Given the description of an element on the screen output the (x, y) to click on. 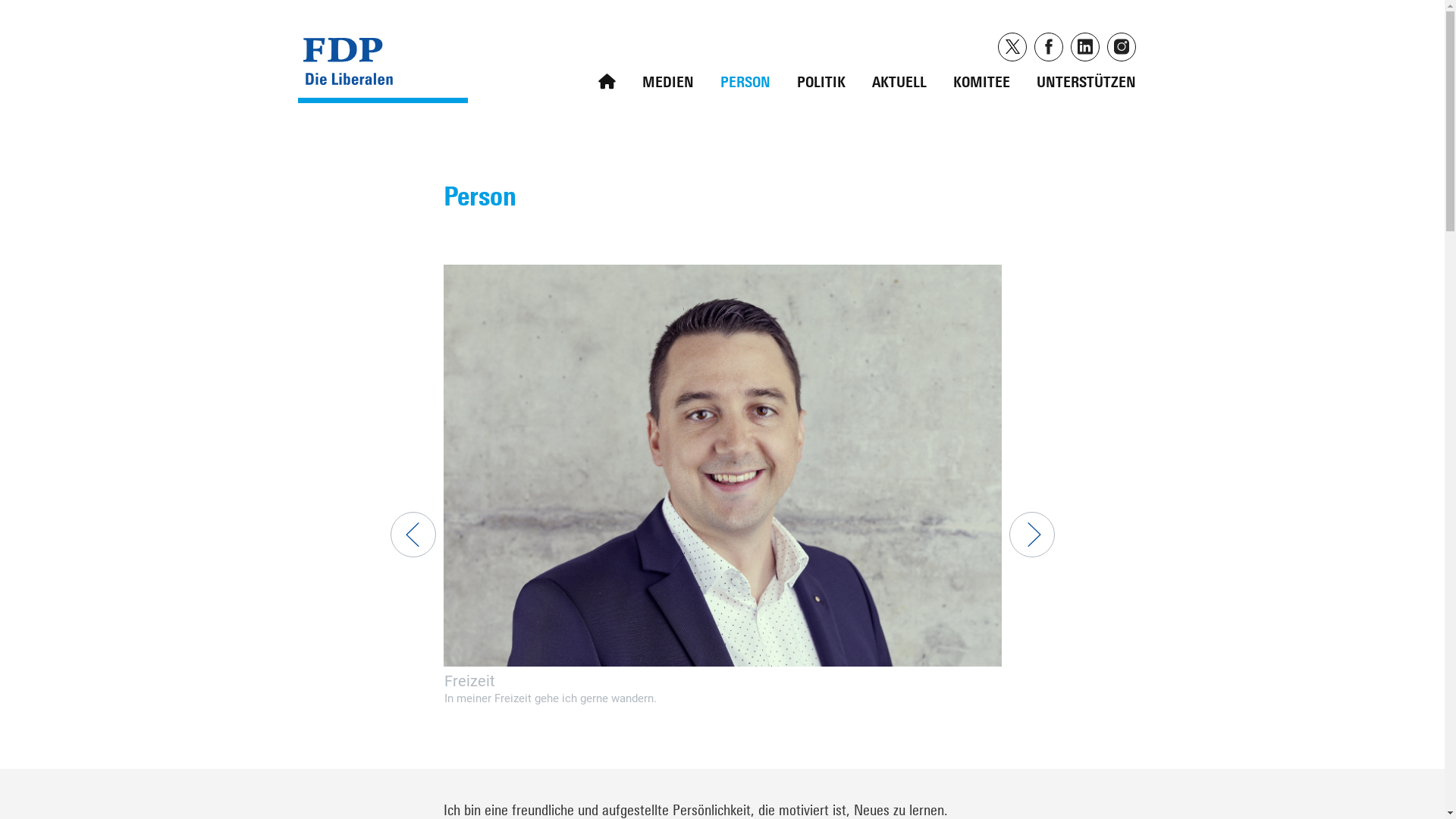
MEDIEN Element type: text (667, 77)
KOMITEE Element type: text (981, 77)
PERSON Element type: text (744, 77)
AKTUELL Element type: text (898, 77)
POLITIK Element type: text (820, 77)
